Given the description of an element on the screen output the (x, y) to click on. 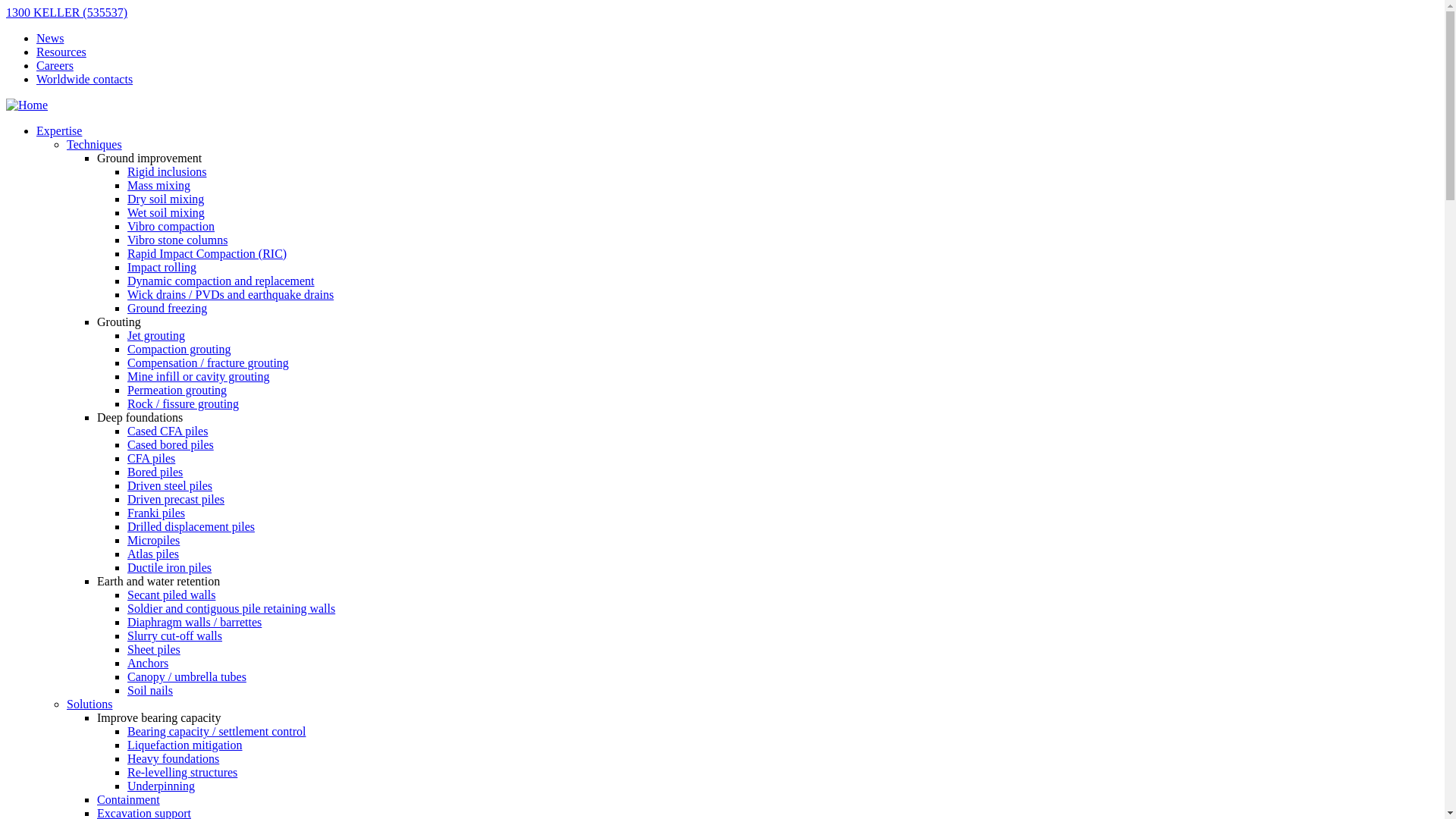
Drilled displacement piles Element type: text (190, 526)
Driven precast piles Element type: text (175, 498)
Anchors Element type: text (147, 662)
Home Element type: hover (26, 104)
Rock / fissure grouting Element type: text (182, 403)
Dry soil mixing Element type: text (165, 198)
CFA piles Element type: text (151, 457)
Techniques Element type: text (94, 144)
Franki piles Element type: text (156, 512)
Wet soil mixing Element type: text (165, 212)
Ductile iron piles Element type: text (169, 567)
Permeation grouting Element type: text (176, 389)
Secant piled walls Element type: text (171, 594)
Vibro stone columns Element type: text (177, 239)
Mass mixing Element type: text (158, 184)
Rigid inclusions Element type: text (166, 171)
Cased bored piles Element type: text (170, 444)
Compensation / fracture grouting Element type: text (207, 362)
Wick drains / PVDs and earthquake drains Element type: text (230, 294)
Impact rolling Element type: text (161, 266)
Re-levelling structures Element type: text (182, 771)
Containment Element type: text (128, 799)
Solutions Element type: text (89, 703)
Vibro compaction Element type: text (170, 225)
1300 KELLER (535537) Element type: text (66, 12)
Soil nails Element type: text (149, 690)
Worldwide contacts Element type: text (84, 78)
Jet grouting Element type: text (156, 335)
Diaphragm walls / barrettes Element type: text (194, 621)
Bored piles Element type: text (154, 471)
Heavy foundations Element type: text (173, 758)
Soldier and contiguous pile retaining walls Element type: text (231, 608)
Bearing capacity / settlement control Element type: text (216, 730)
Compaction grouting Element type: text (178, 348)
News Element type: text (49, 37)
Driven steel piles Element type: text (169, 485)
Micropiles Element type: text (153, 539)
Canopy / umbrella tubes Element type: text (186, 676)
Dynamic compaction and replacement Element type: text (220, 280)
Skip to main content Element type: text (6, 6)
Mine infill or cavity grouting Element type: text (198, 376)
Slurry cut-off walls Element type: text (174, 635)
Cased CFA piles Element type: text (167, 430)
Atlas piles Element type: text (152, 553)
Resources Element type: text (61, 51)
Rapid Impact Compaction (RIC) Element type: text (206, 253)
Underpinning Element type: text (160, 785)
Expertise Element type: text (58, 130)
Careers Element type: text (54, 65)
Liquefaction mitigation Element type: text (184, 744)
Sheet piles Element type: text (153, 649)
Ground freezing Element type: text (167, 307)
